Given the description of an element on the screen output the (x, y) to click on. 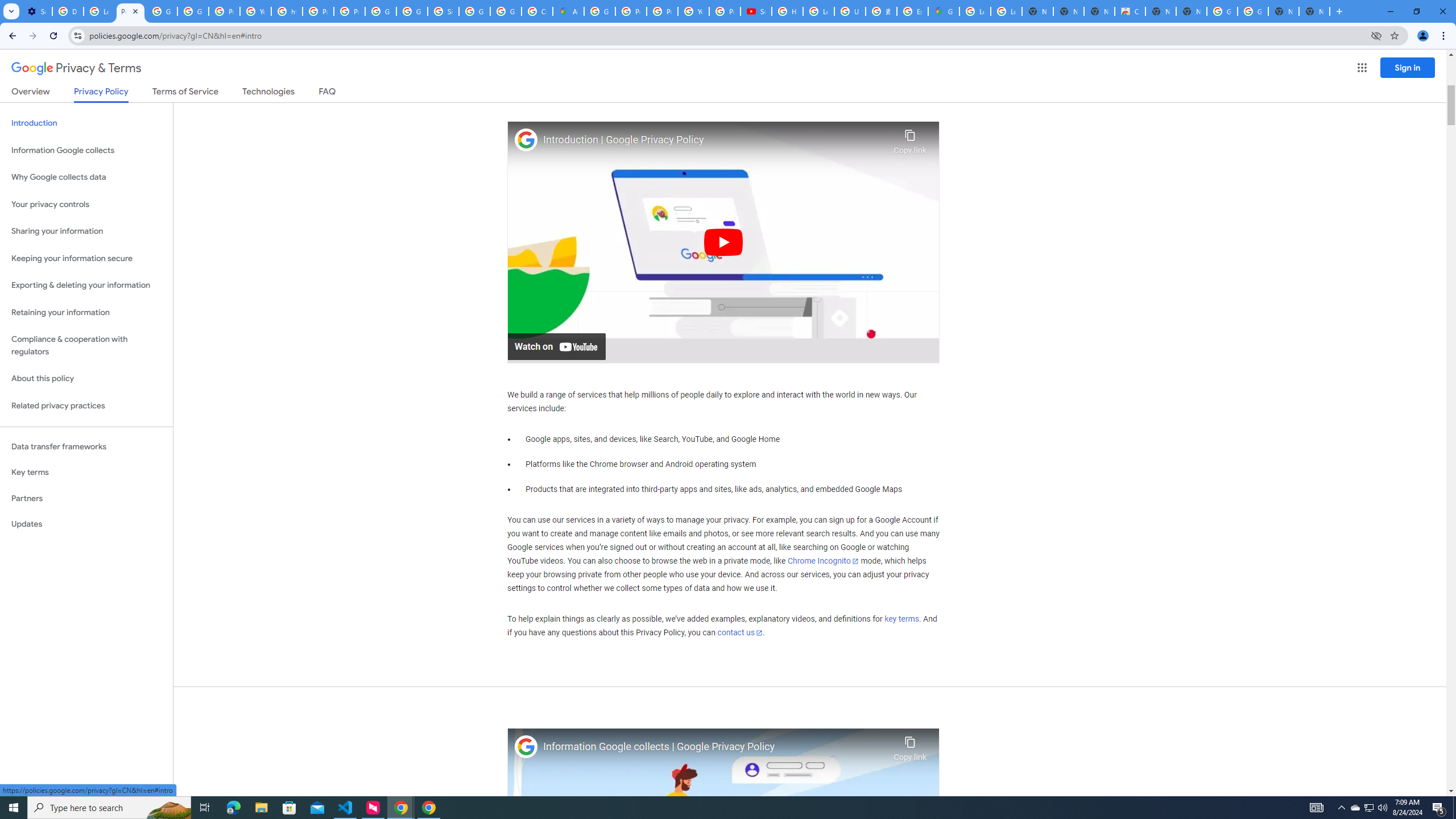
Restore (1416, 11)
Forward (32, 35)
Introduction (86, 122)
Introduction | Google Privacy Policy (715, 139)
Settings - Performance (36, 11)
Google Images (1222, 11)
Minimize (1390, 11)
Information Google collects (86, 150)
Bookmark this tab (1393, 35)
Privacy Help Center - Policies Help (631, 11)
Terms of Service (184, 93)
Sign in (1407, 67)
